Given the description of an element on the screen output the (x, y) to click on. 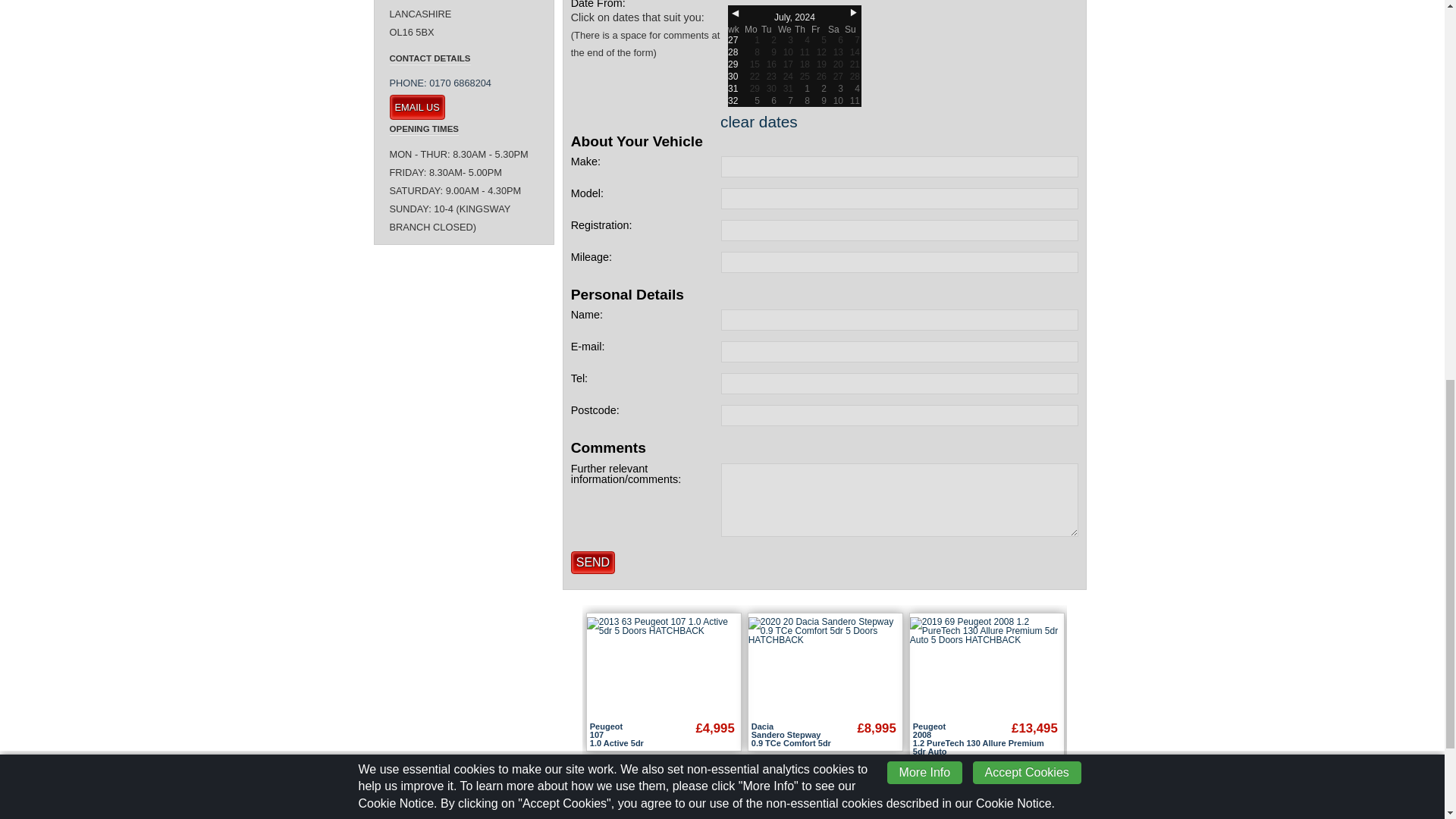
send (592, 562)
1 (752, 39)
27 (736, 39)
July, 2024 (794, 17)
